Given the description of an element on the screen output the (x, y) to click on. 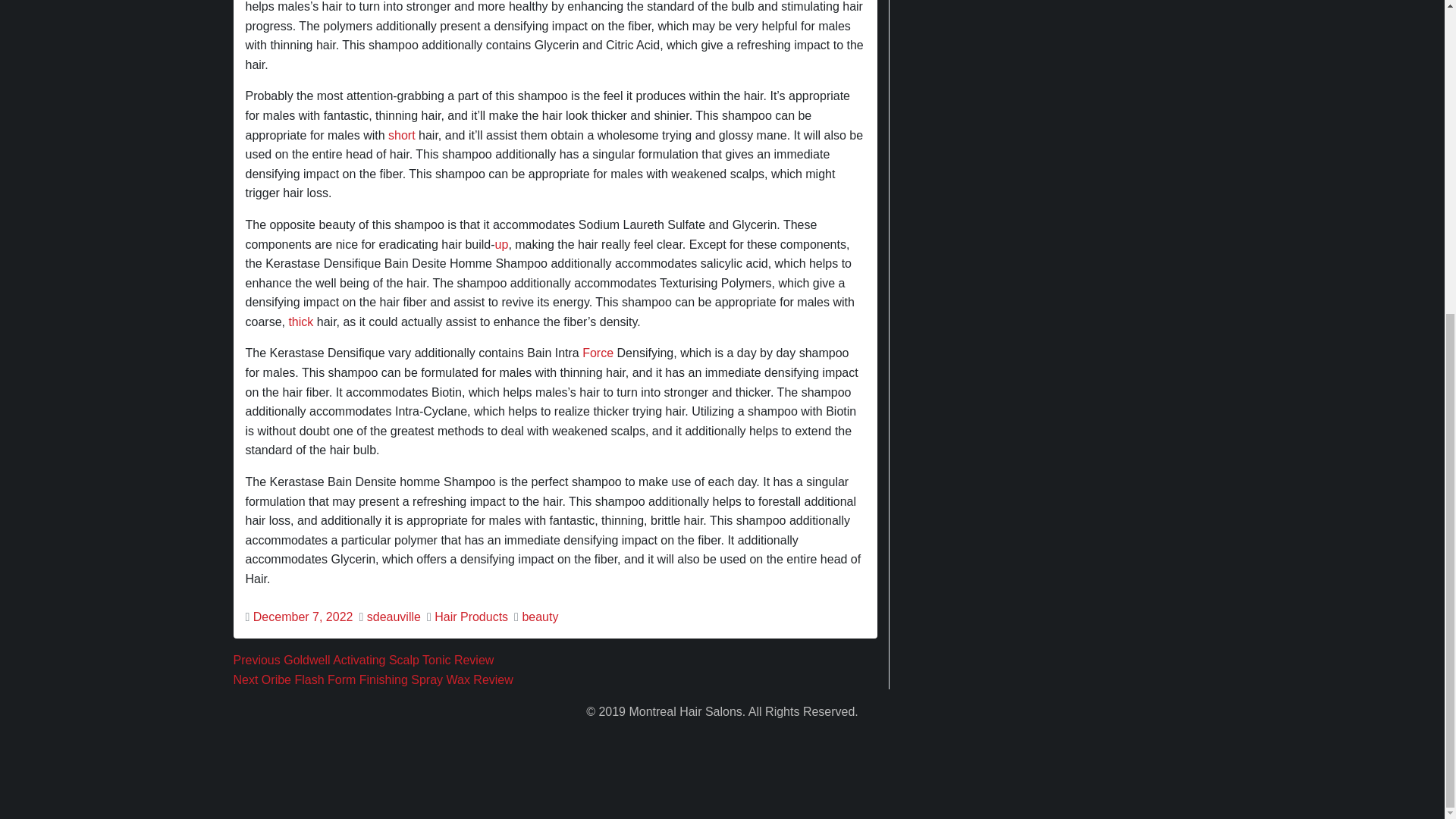
Force (597, 352)
sdeauville (393, 616)
thick (300, 321)
December 7, 2022 (303, 616)
short (401, 134)
up (501, 244)
Hair Products (470, 616)
beauty (539, 616)
